Given the description of an element on the screen output the (x, y) to click on. 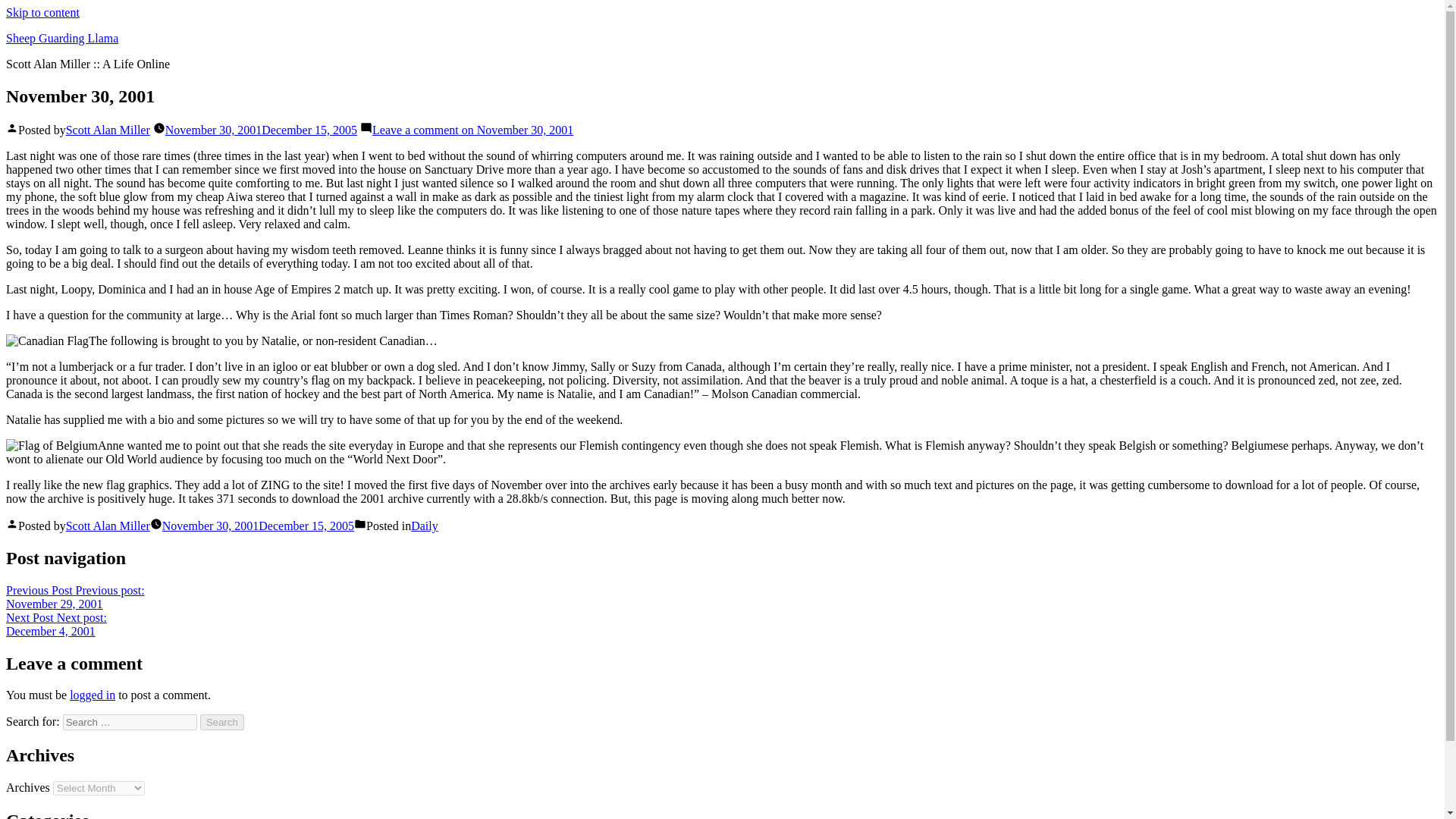
Search (222, 722)
logged in (74, 596)
Scott Alan Miller (92, 694)
Search (55, 624)
Daily (107, 129)
Scott Alan Miller (222, 722)
November 30, 2001December 15, 2005 (424, 525)
Sheep Guarding Llama (107, 525)
Skip to content (260, 129)
November 30, 2001December 15, 2005 (61, 38)
Leave a comment on November 30, 2001 (42, 11)
Search (257, 525)
